Given the description of an element on the screen output the (x, y) to click on. 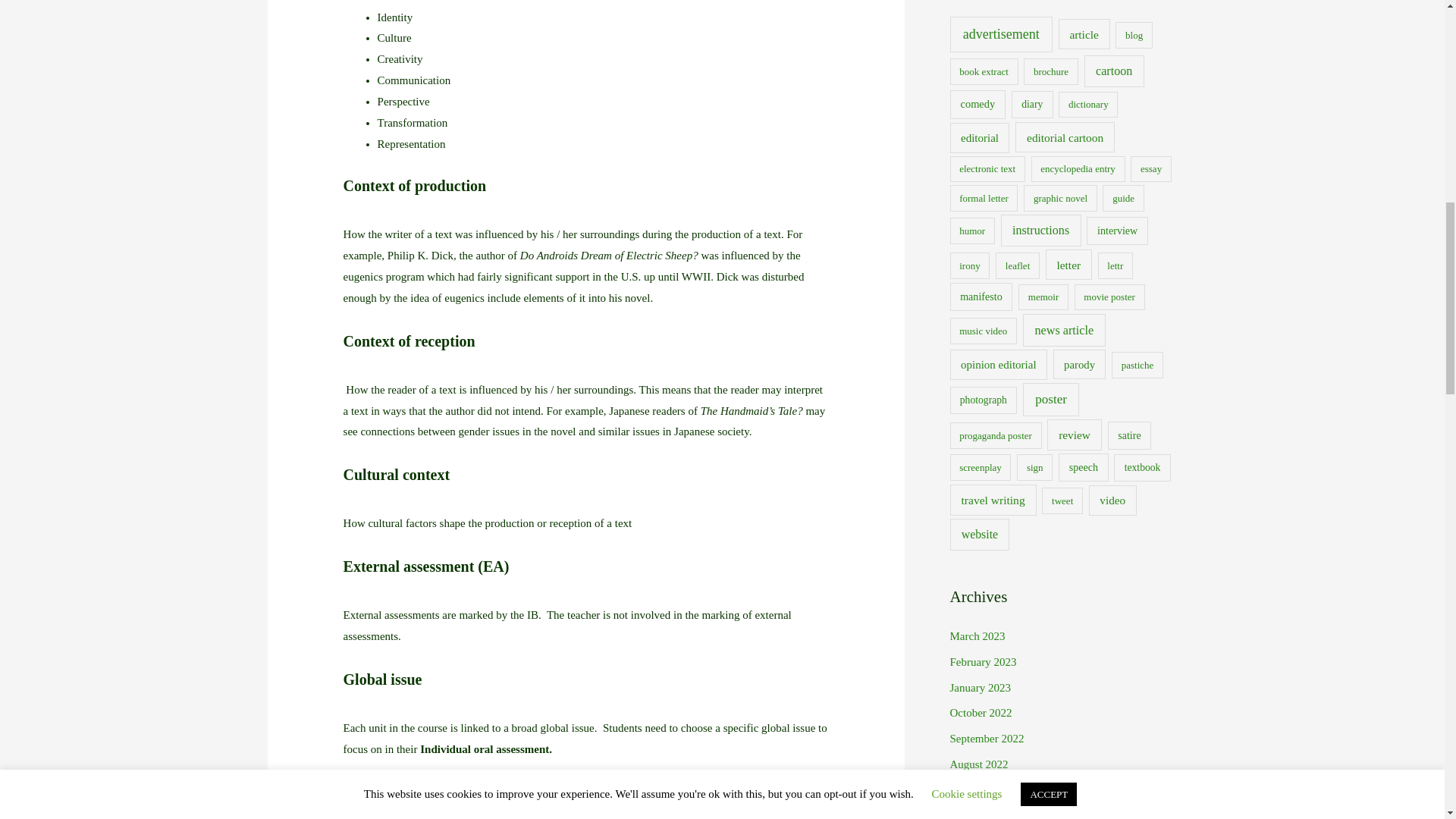
cartoon (1114, 70)
blog (1134, 35)
book extract (983, 71)
advertisement (1000, 34)
article (1083, 33)
brochure (1050, 71)
